Given the description of an element on the screen output the (x, y) to click on. 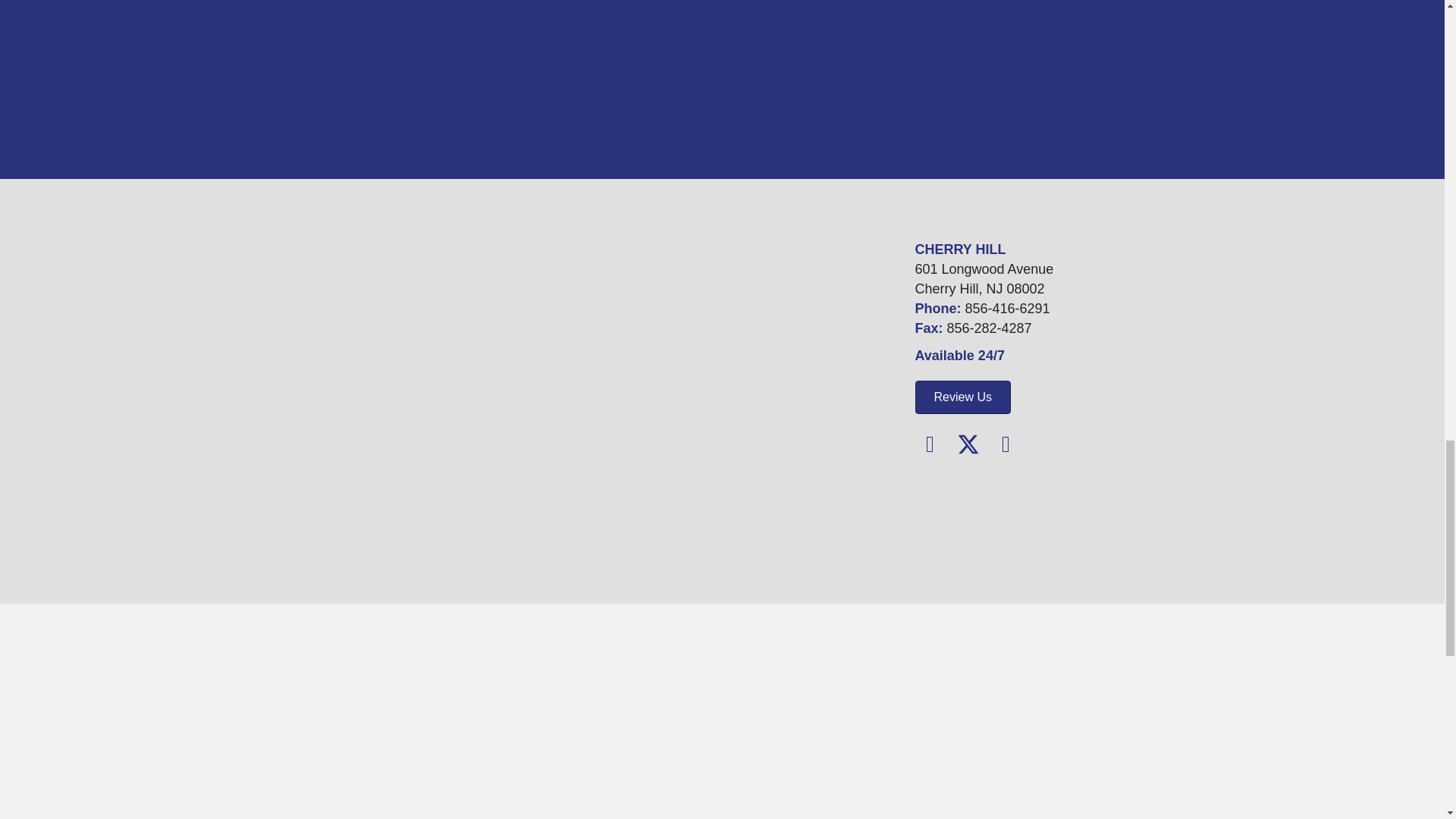
cdn (965, 515)
Facebook (929, 444)
LinkedIn (1005, 444)
